Given the description of an element on the screen output the (x, y) to click on. 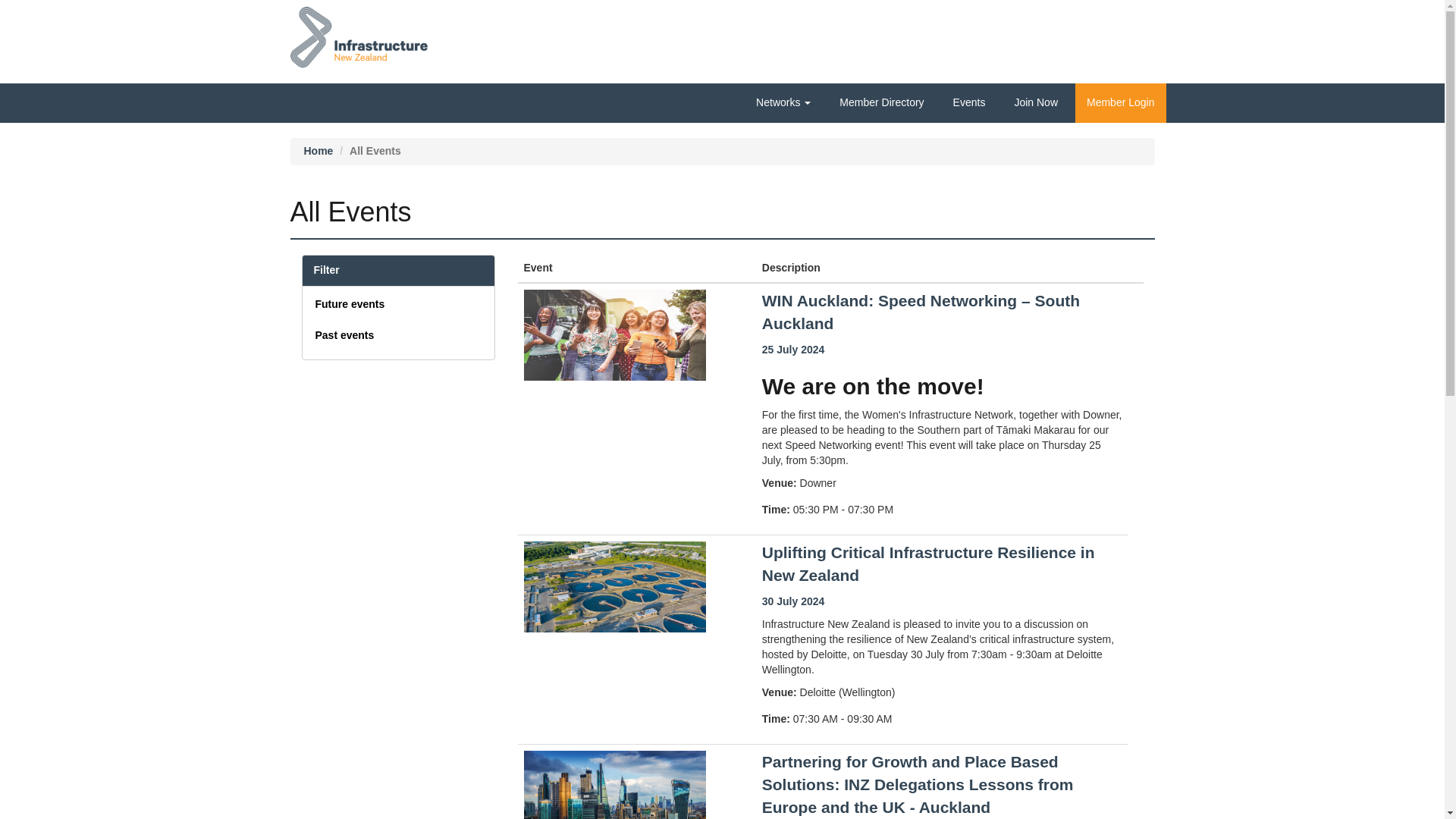
Events (969, 102)
Member Directory (881, 102)
Find out more (920, 311)
INZ Member Portal (358, 31)
Networks (783, 102)
Find out more (927, 563)
Past events (344, 335)
Member Login (1120, 102)
Future events (350, 304)
Home (317, 150)
Find out more (917, 783)
Uplifting Critical Infrastructure Resilience in New Zealand (927, 563)
Networks (783, 102)
Home (317, 150)
